Given the description of an element on the screen output the (x, y) to click on. 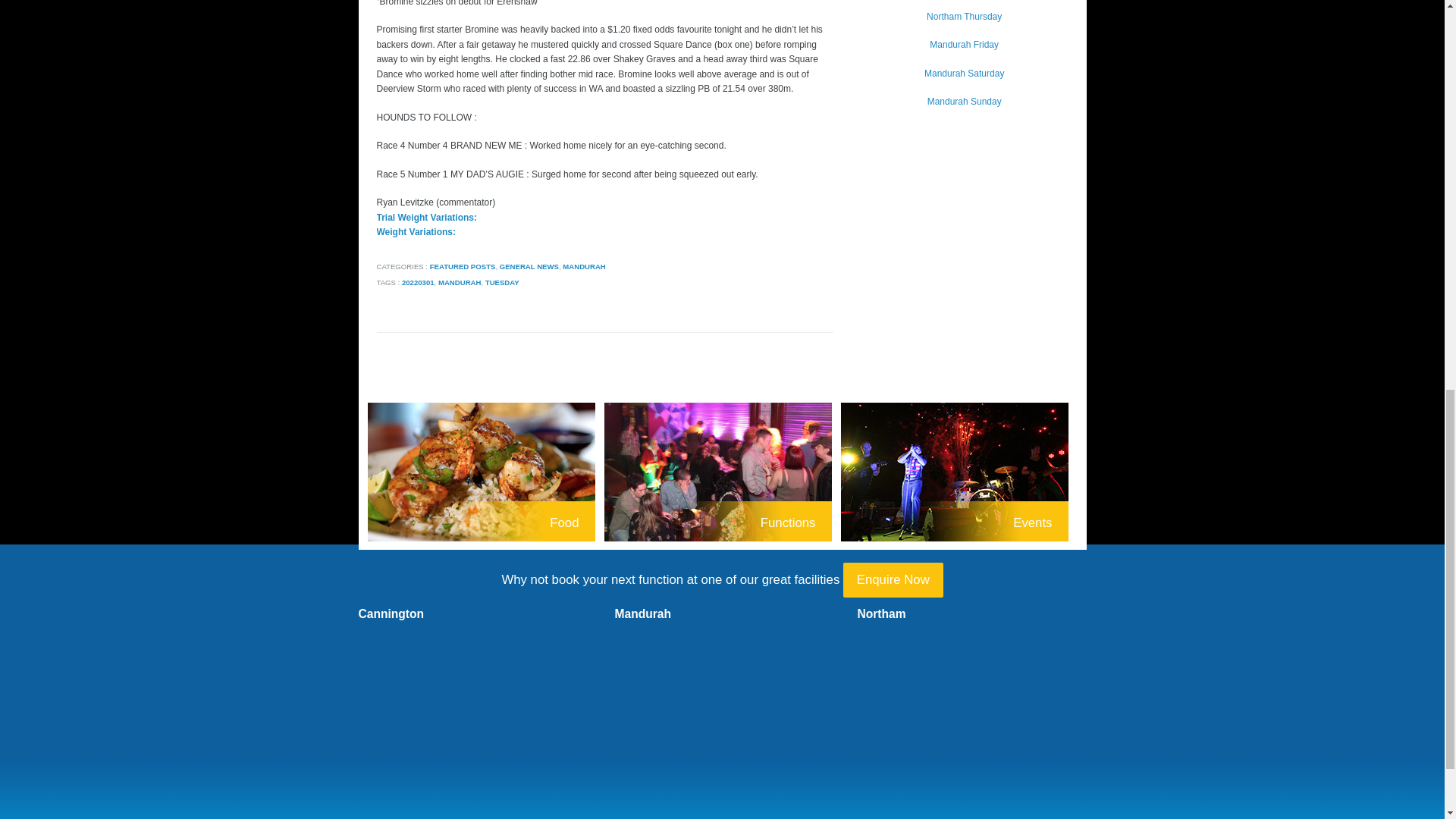
TUESDAY (501, 282)
Contact (893, 579)
Trial Weight Variations: (425, 217)
Special Events - Greyhounds WA (958, 473)
GENERAL NEWS (529, 266)
MANDURAH (583, 266)
20220301 (417, 282)
FEATURED POSTS (462, 266)
MANDURAH (459, 282)
Weight Variations: (414, 231)
